Given the description of an element on the screen output the (x, y) to click on. 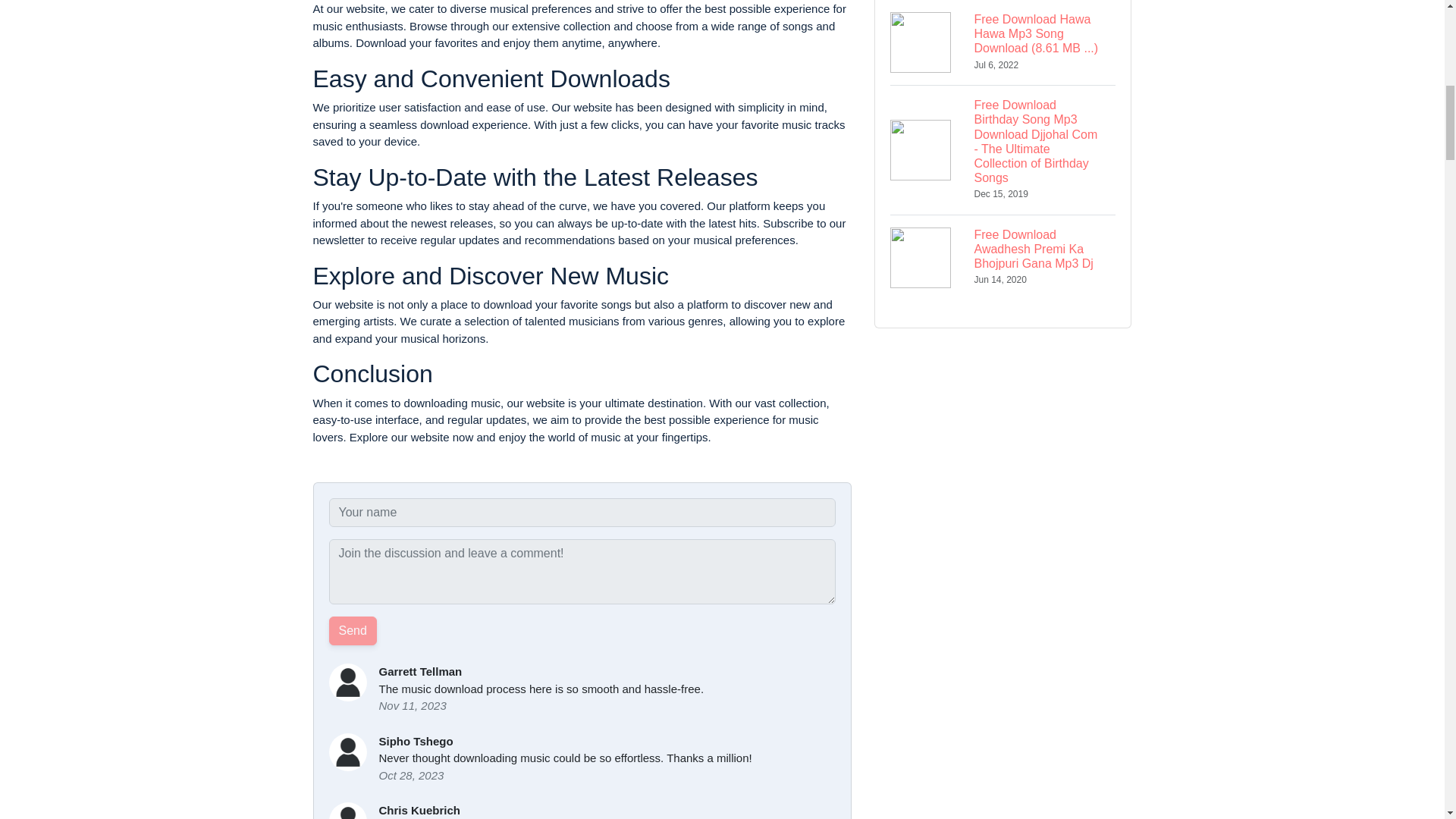
Send (353, 630)
Send (353, 630)
